Given the description of an element on the screen output the (x, y) to click on. 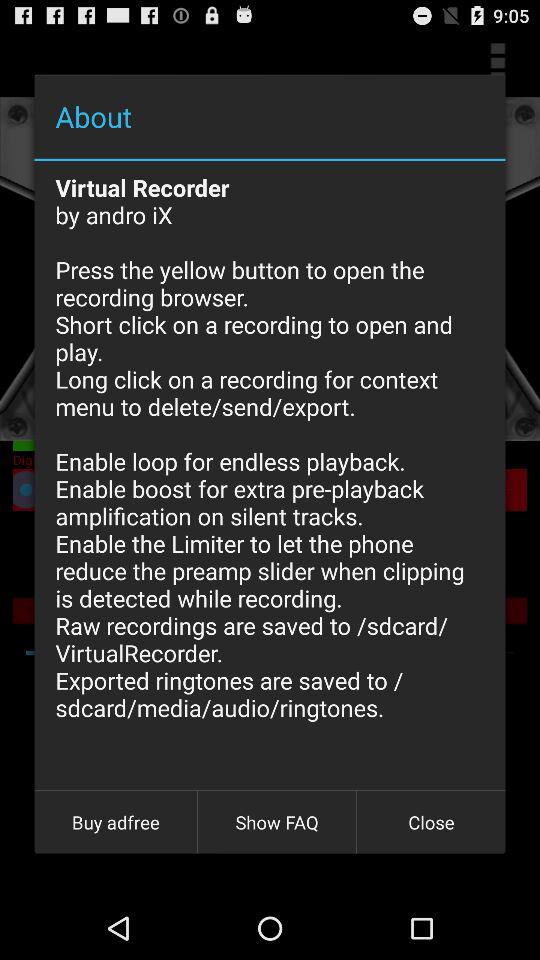
launch app below virtual recorder by item (115, 821)
